Given the description of an element on the screen output the (x, y) to click on. 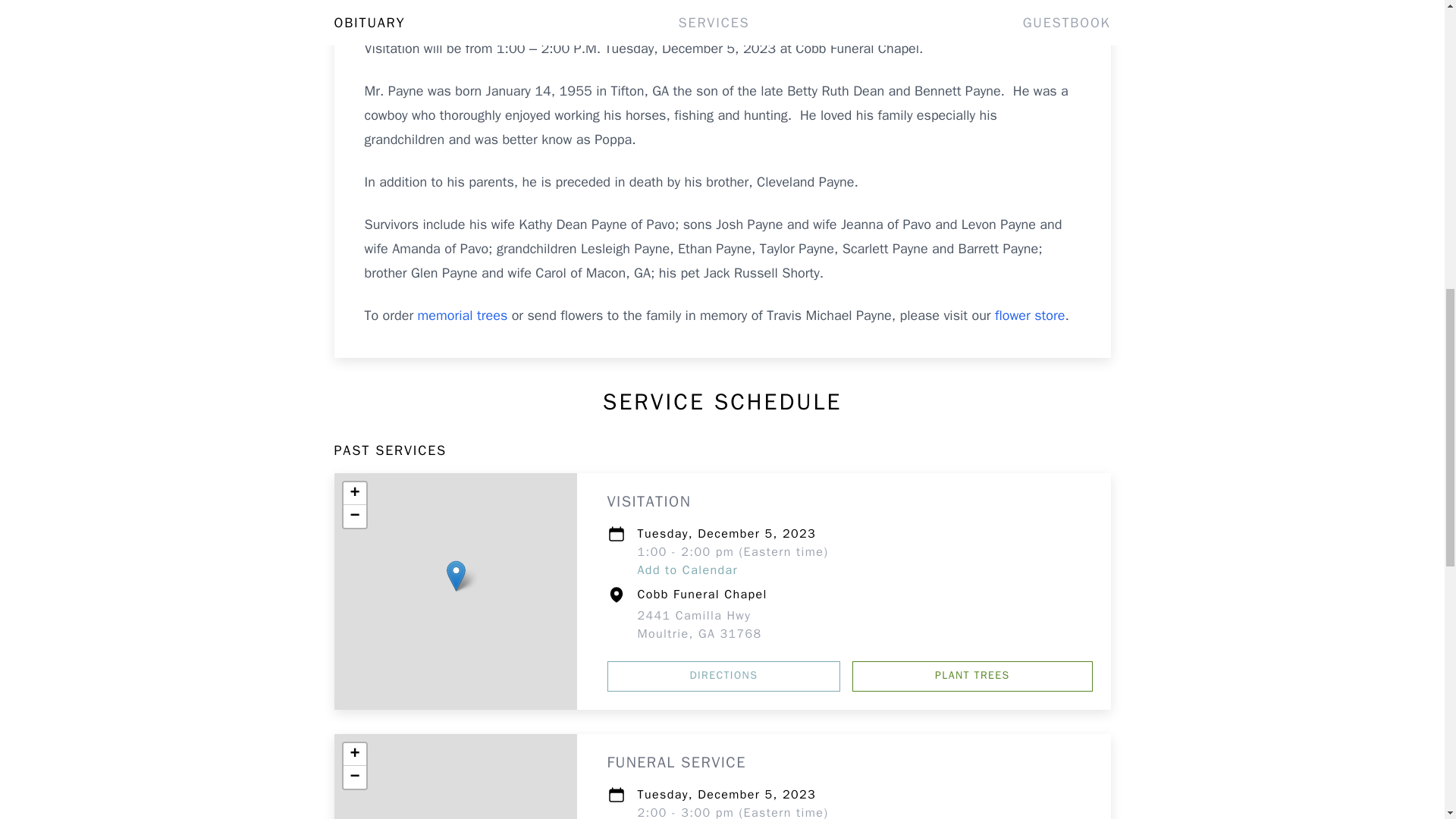
Zoom out (353, 776)
Zoom in (353, 753)
PLANT TREES (971, 675)
Zoom in (353, 493)
Zoom out (353, 516)
flower store (1029, 315)
DIRECTIONS (723, 675)
Add to Calendar (687, 570)
memorial trees (699, 624)
